Given the description of an element on the screen output the (x, y) to click on. 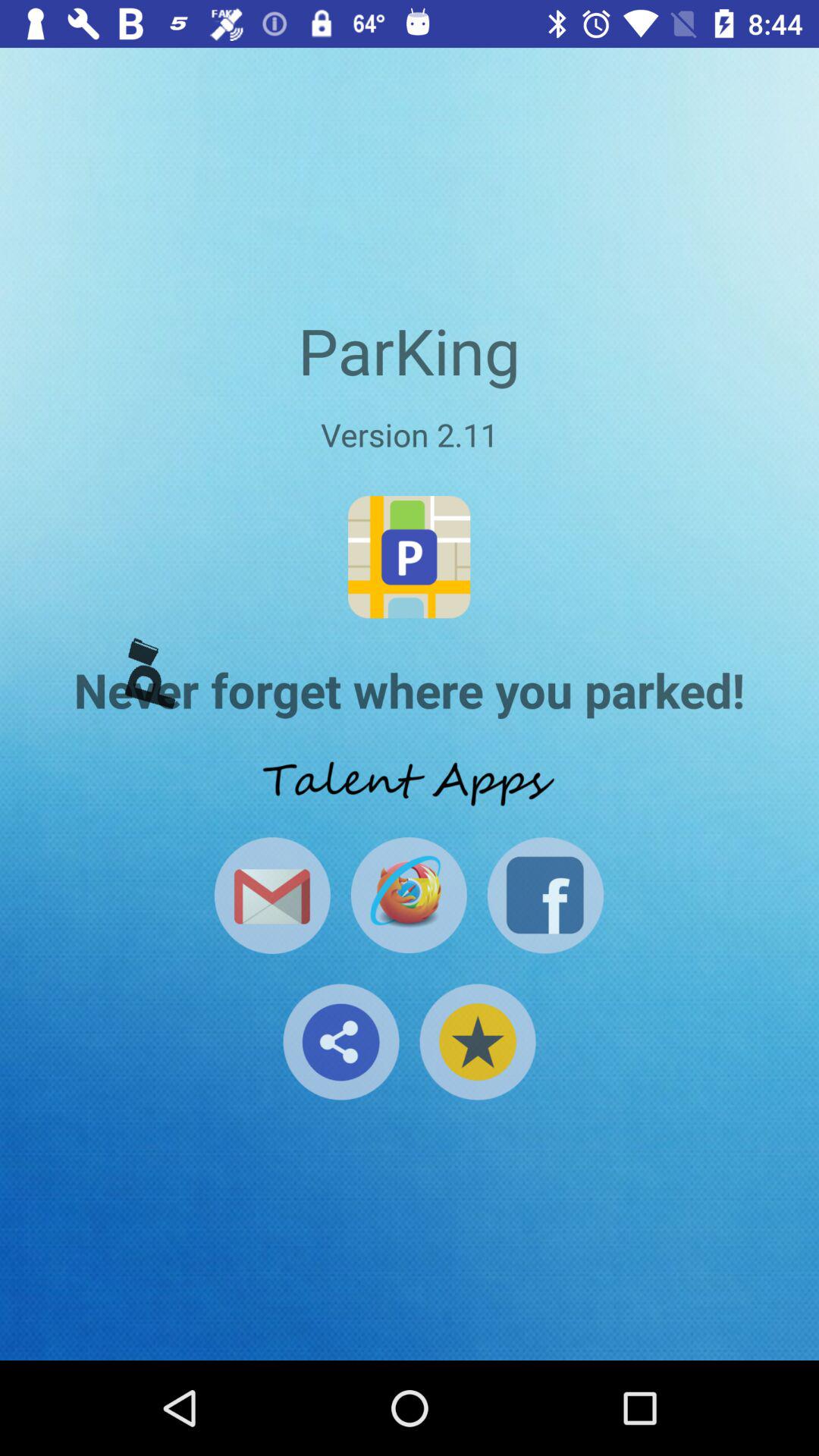
open with firefox (408, 895)
